Given the description of an element on the screen output the (x, y) to click on. 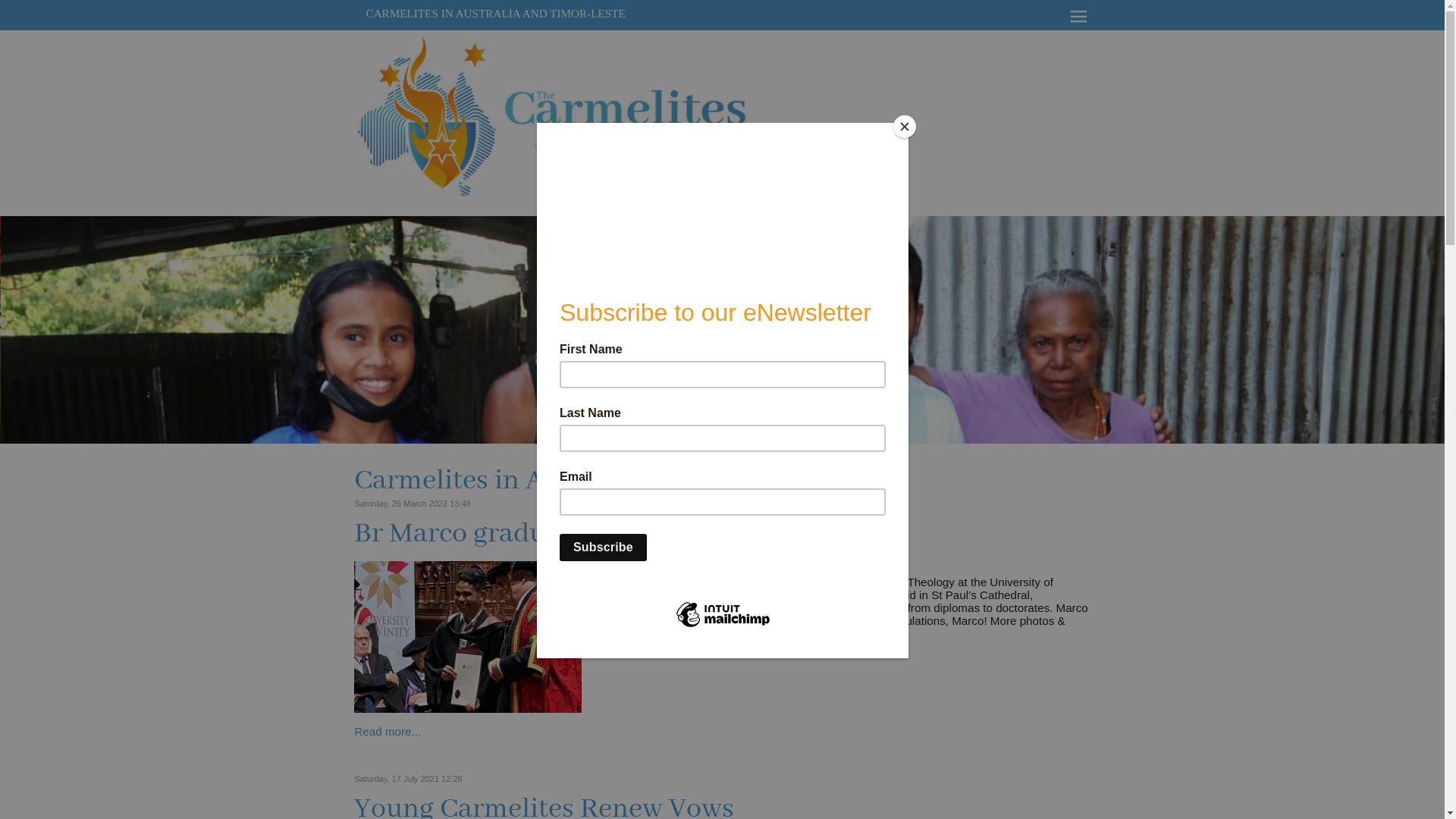
Br Marco graduates with BTheol Element type: text (552, 533)
Read more... Element type: text (387, 730)
Br Marco graduates with BTheol Element type: hover (467, 708)
